Given the description of an element on the screen output the (x, y) to click on. 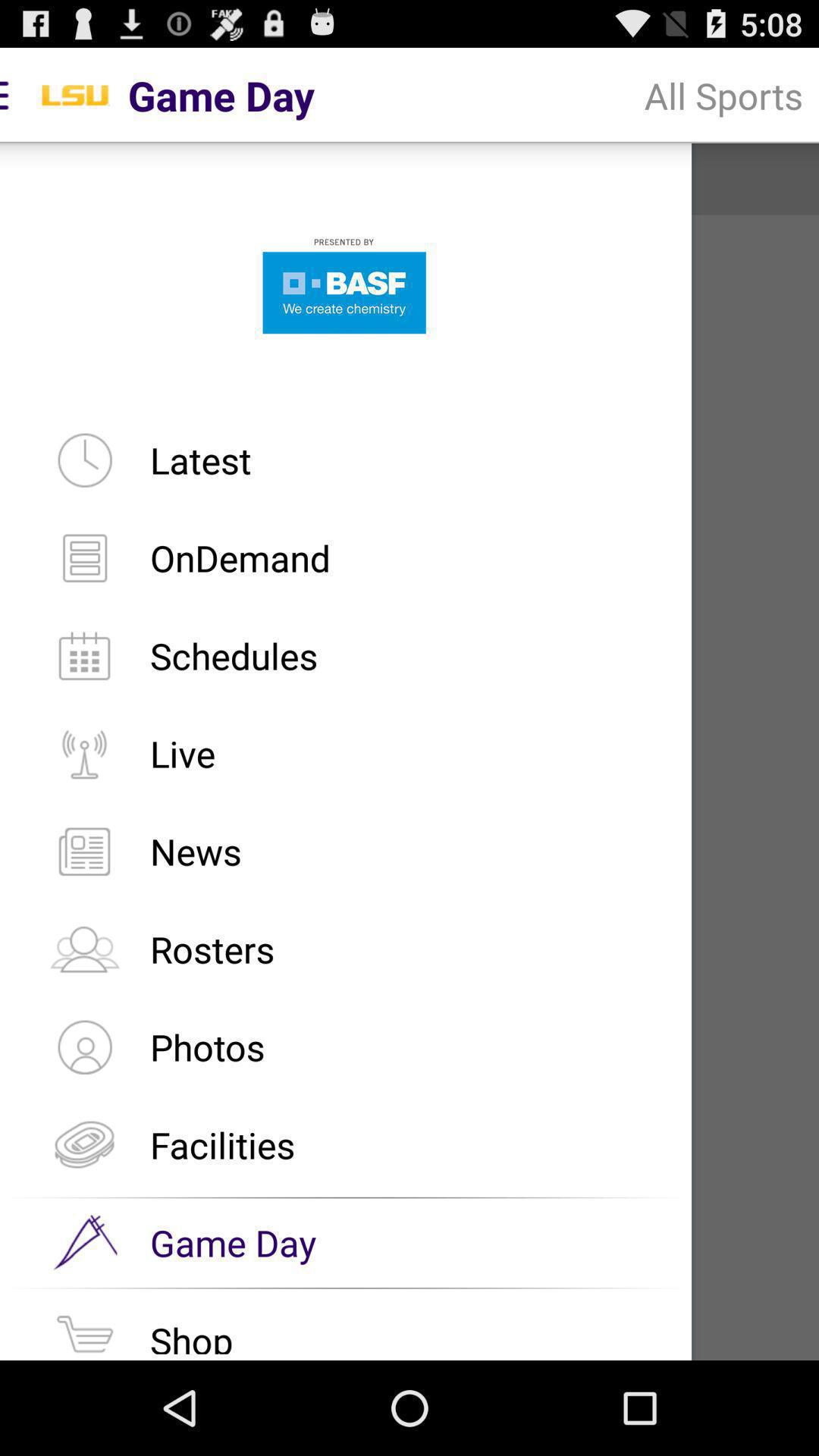
click on shop icon (84, 1330)
